Given the description of an element on the screen output the (x, y) to click on. 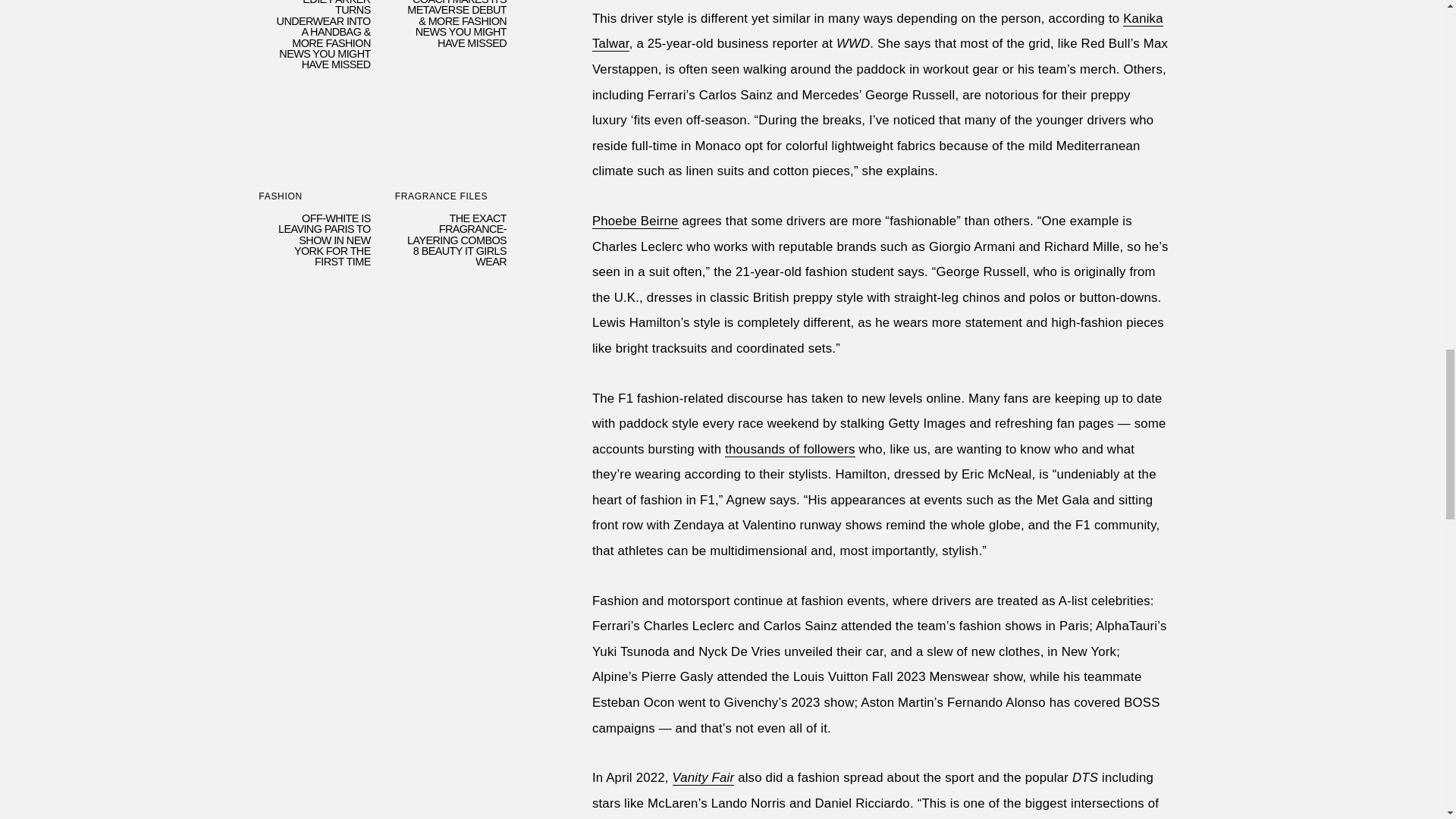
thousands of followers (789, 700)
Phoebe Beirne (635, 472)
Kanika Talwar (877, 282)
